Given the description of an element on the screen output the (x, y) to click on. 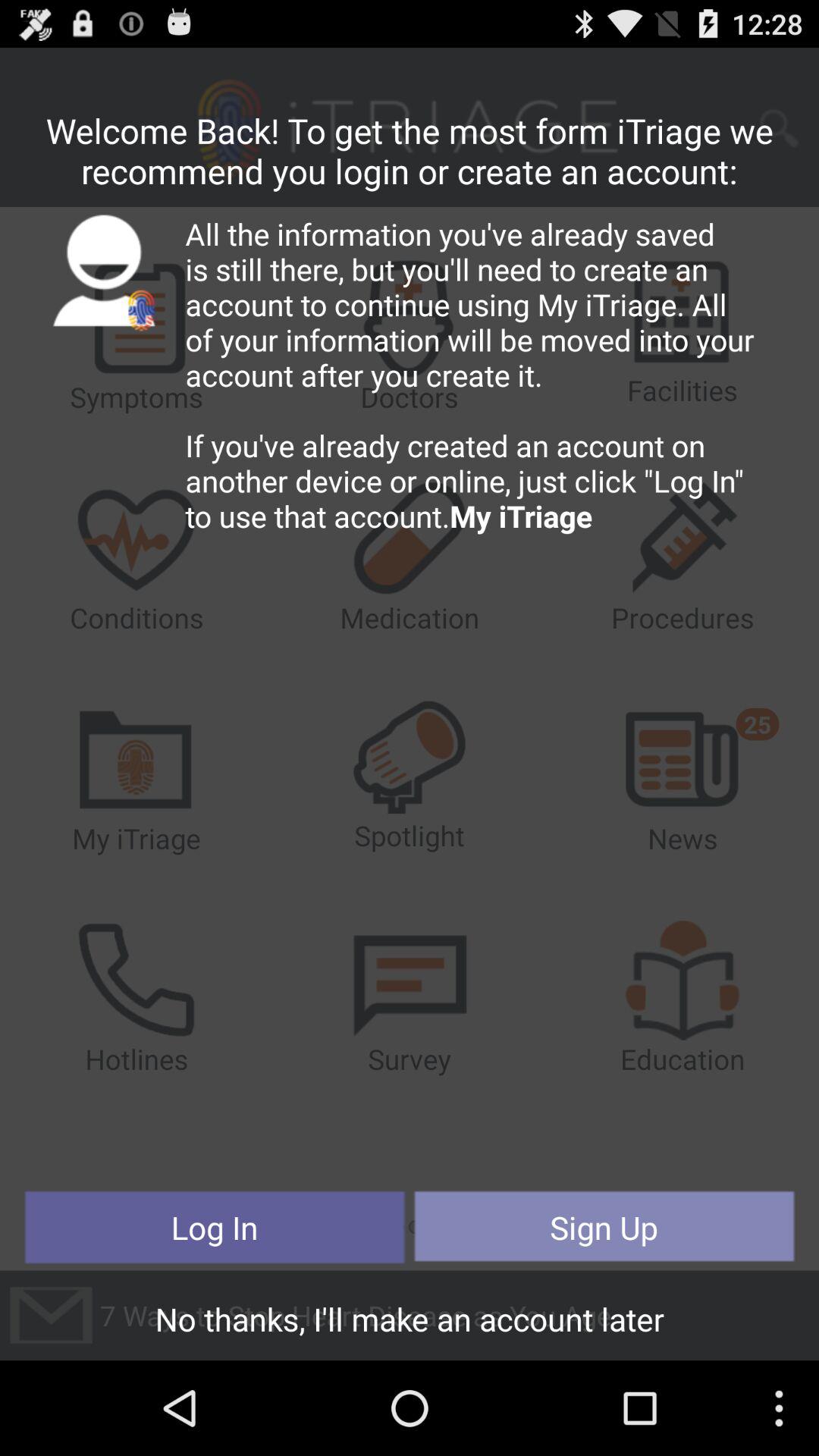
select icon to the right of log in icon (604, 1227)
